Given the description of an element on the screen output the (x, y) to click on. 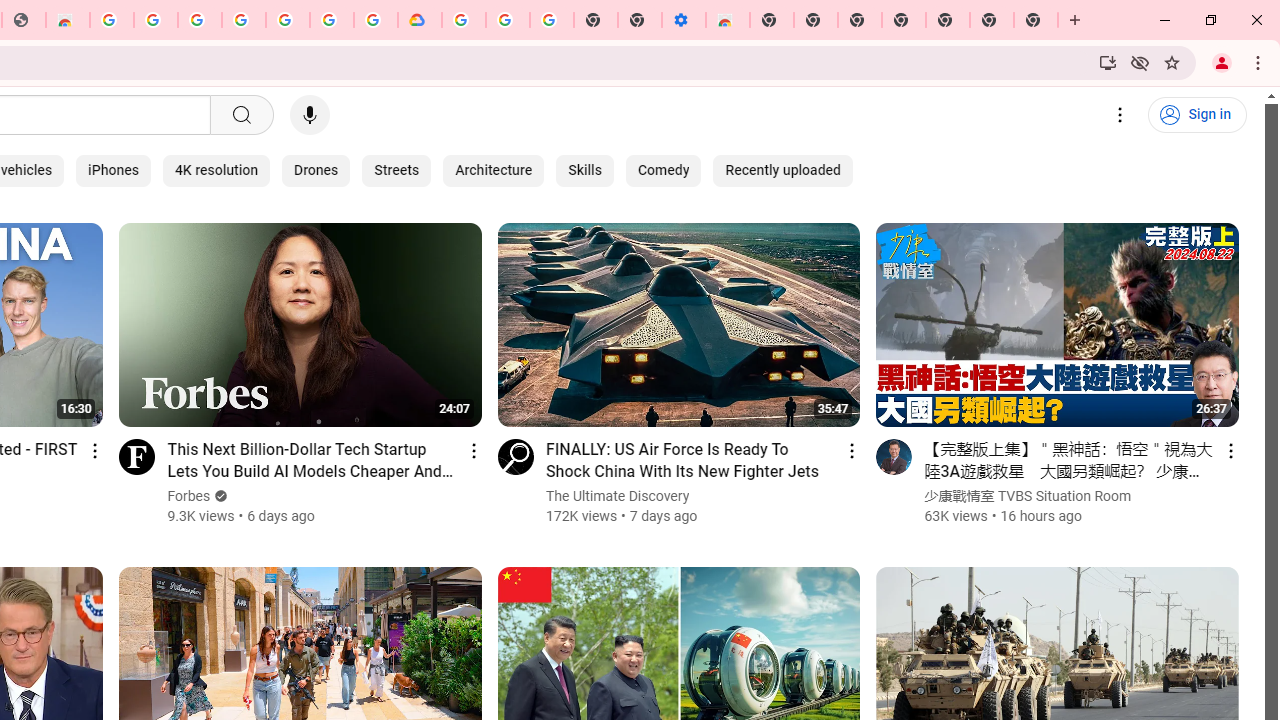
Sign in - Google Accounts (199, 20)
Drones (315, 170)
